Given the description of an element on the screen output the (x, y) to click on. 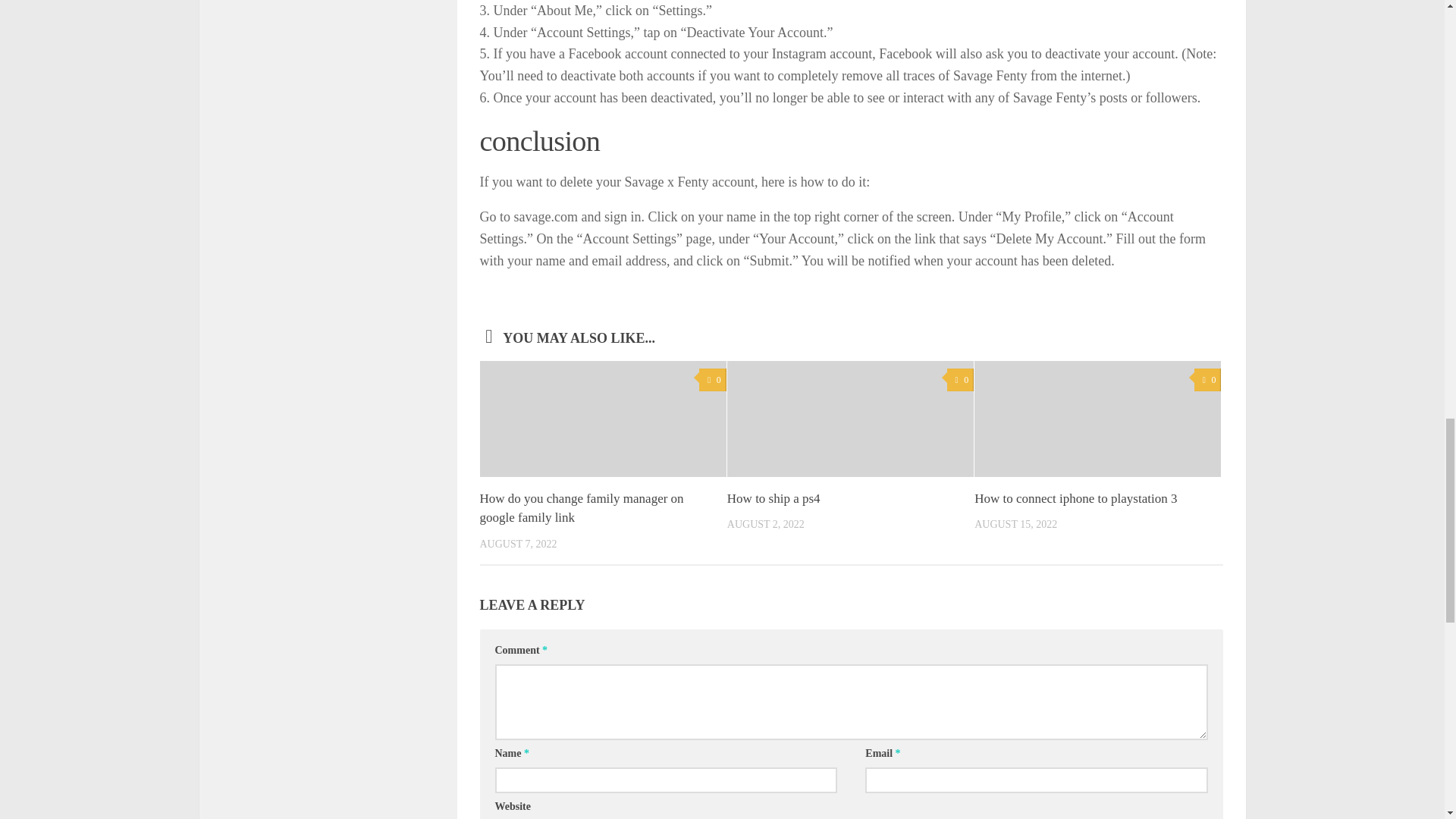
0 (960, 380)
0 (1207, 380)
How to connect iphone to playstation 3 (1075, 498)
How do you change family manager on google family link (580, 508)
How to ship a ps4 (773, 498)
0 (711, 380)
